Given the description of an element on the screen output the (x, y) to click on. 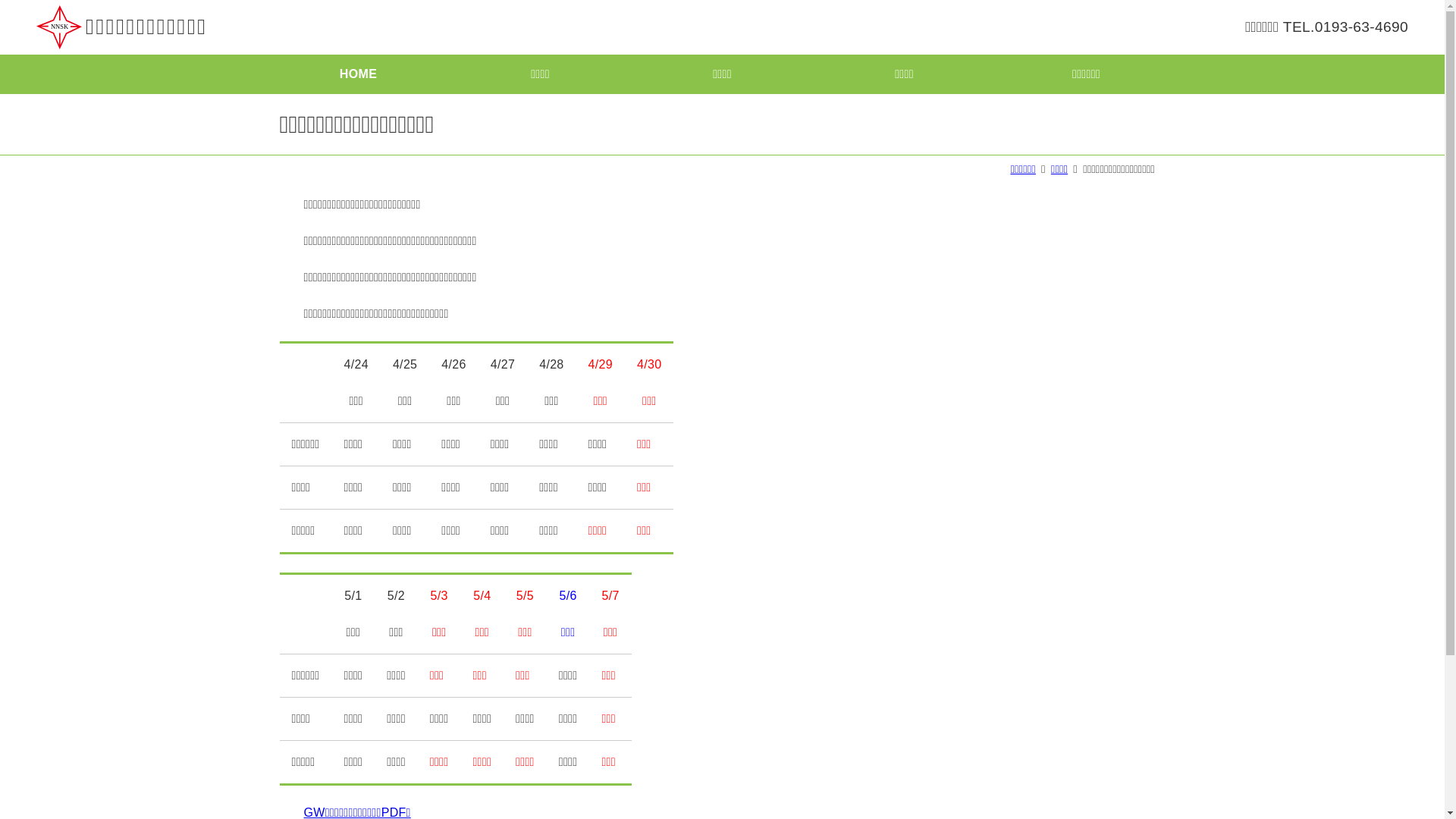
HOME Element type: text (357, 74)
